Given the description of an element on the screen output the (x, y) to click on. 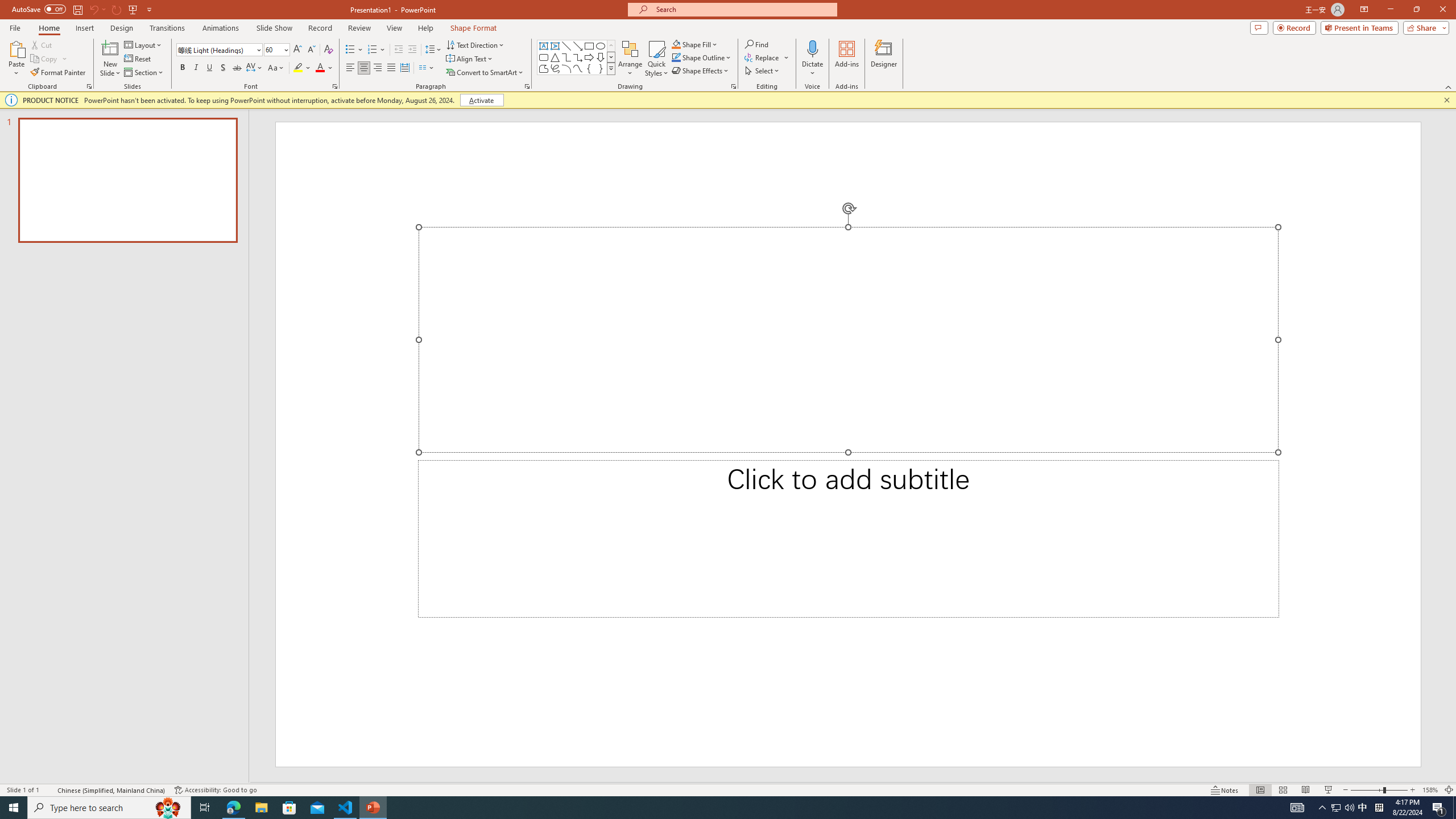
Columns (426, 67)
Insert (83, 28)
Shadow (223, 67)
Close this message (1446, 99)
Paste (16, 48)
Align Right (377, 67)
Text Highlight Color (302, 67)
Present in Teams (1359, 27)
Class: MsoCommandBar (728, 789)
Align Text (470, 58)
Redo (117, 9)
Decrease Font Size (310, 49)
Replace... (767, 56)
